Given the description of an element on the screen output the (x, y) to click on. 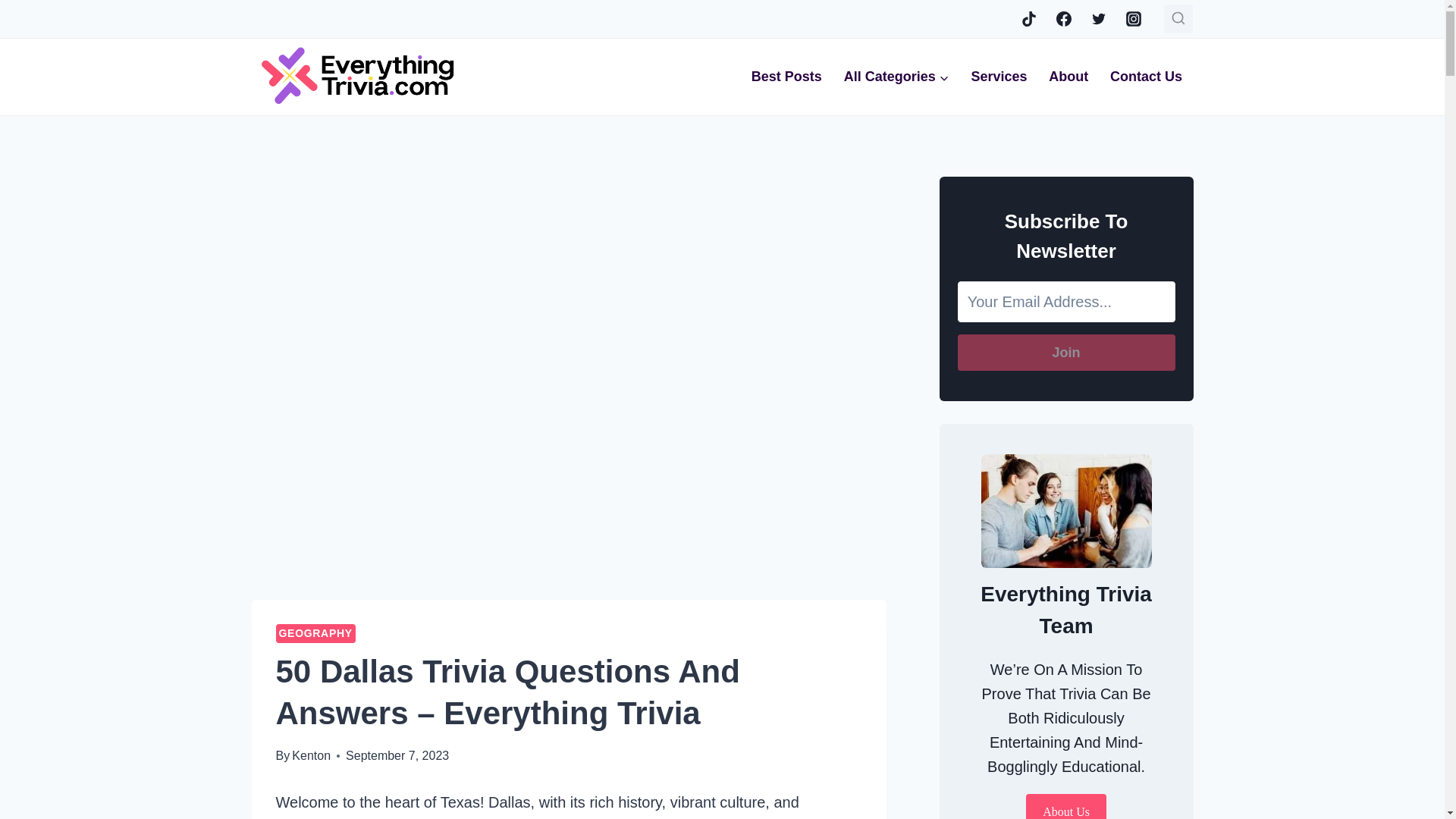
Services (998, 76)
Contact Us (1146, 76)
About (1068, 76)
Kenton (311, 755)
GEOGRAPHY (315, 633)
All Categories (895, 76)
Best Posts (785, 76)
